Given the description of an element on the screen output the (x, y) to click on. 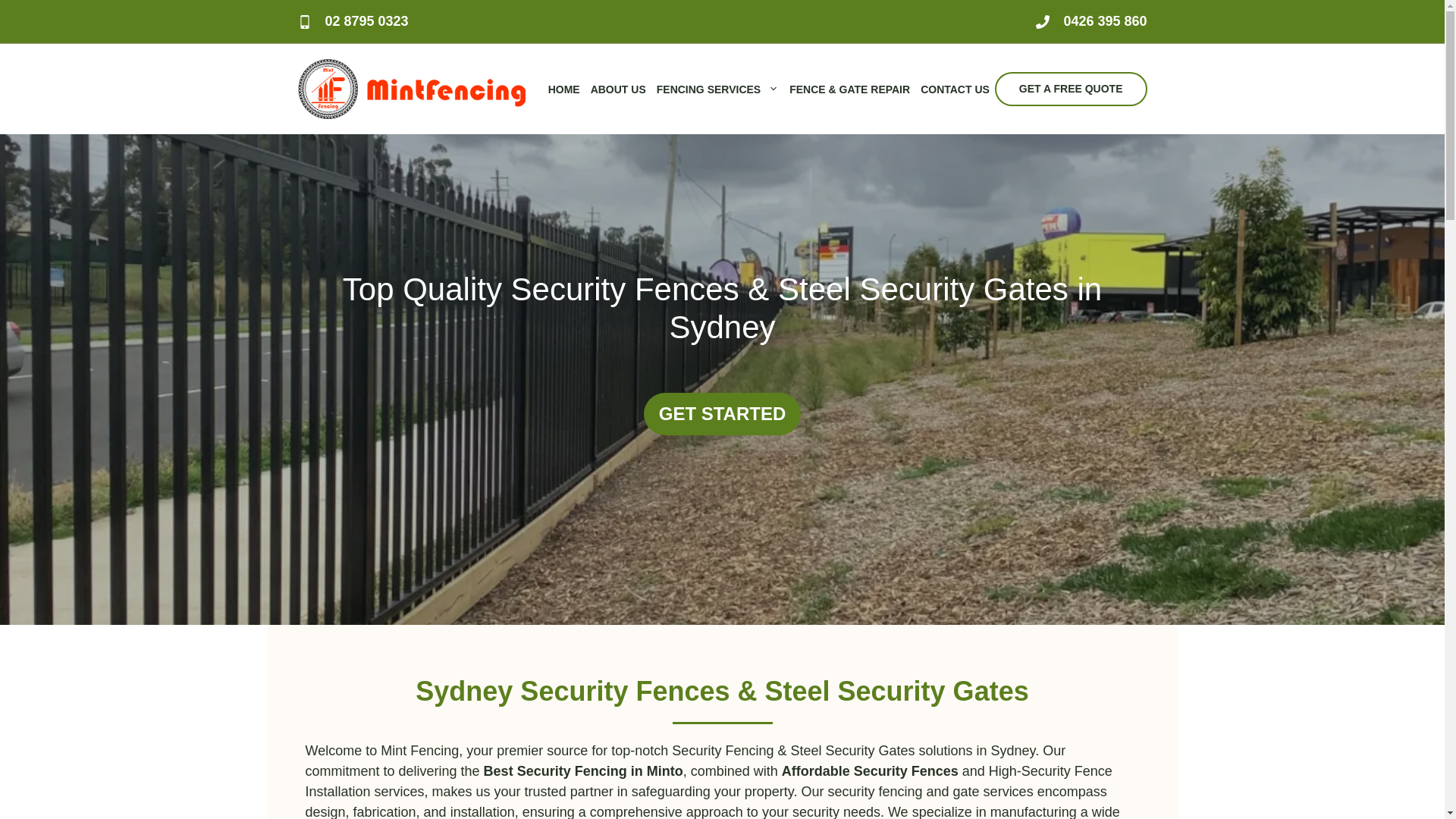
02 8795 0323 Element type: text (365, 20)
FENCING SERVICES Element type: text (717, 88)
ABOUT US Element type: text (618, 88)
FENCE & GATE REPAIR Element type: text (849, 88)
CONTACT US Element type: text (954, 88)
GET A FREE QUOTE Element type: text (1070, 89)
HOME Element type: text (563, 88)
GET STARTED Element type: text (722, 413)
0426 395 860 Element type: text (1104, 20)
